Given the description of an element on the screen output the (x, y) to click on. 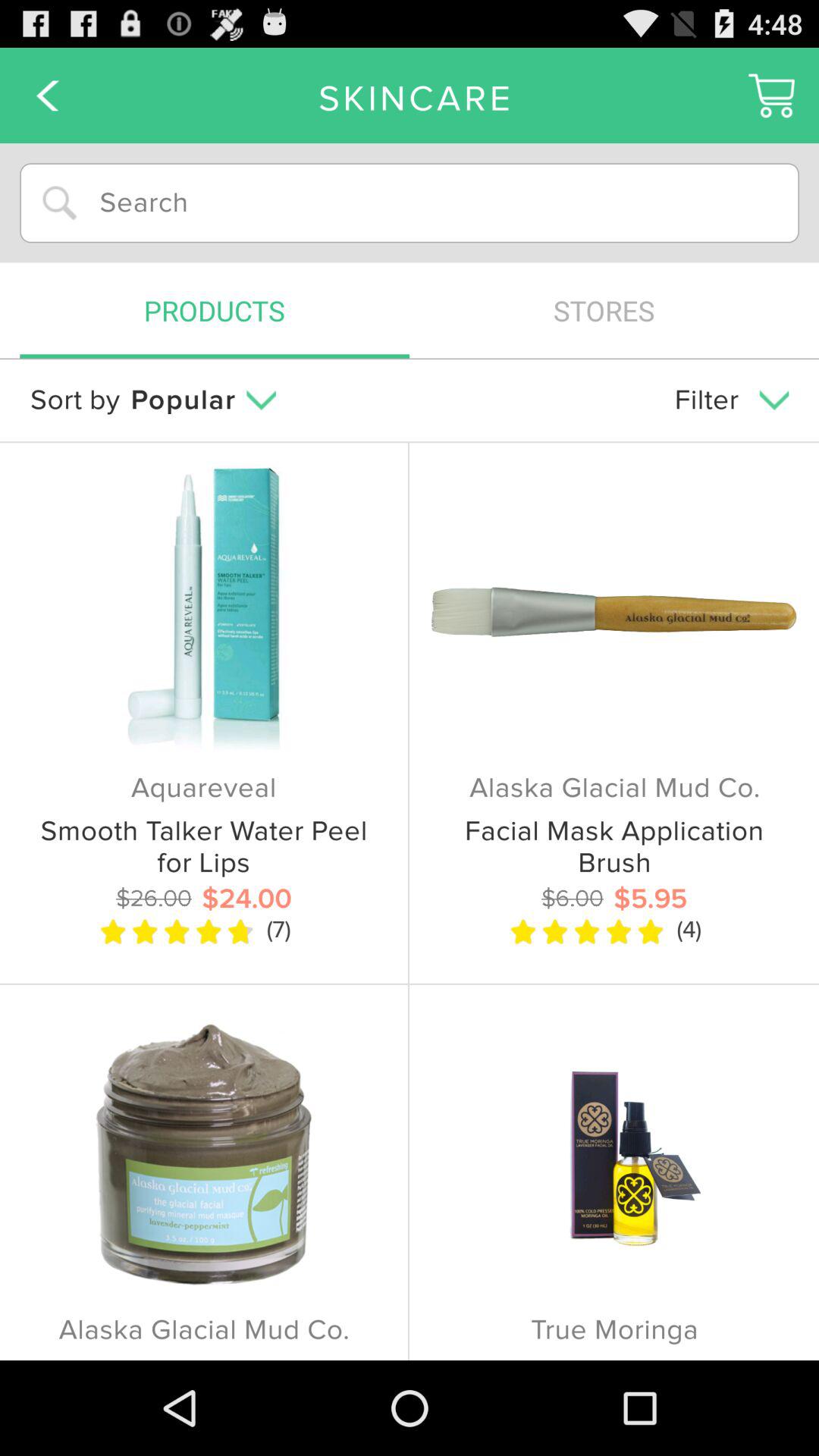
input text (409, 202)
